Given the description of an element on the screen output the (x, y) to click on. 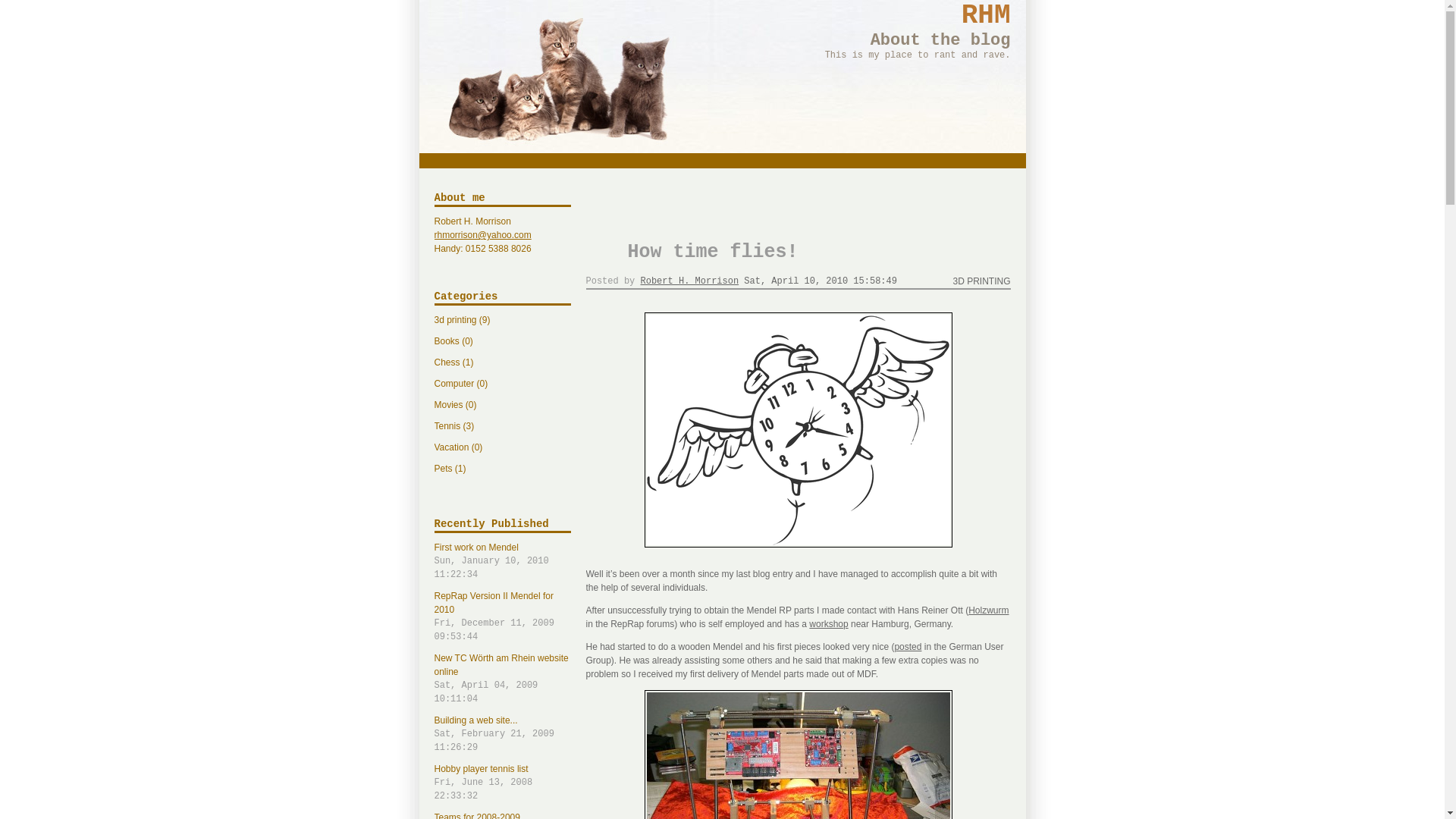
Holzwurm (501, 734)
workshop (988, 610)
RHM (501, 815)
Robert H. Morrison (828, 624)
Sat, April 10, 2010 15:58:49 (985, 15)
3D PRINTING (689, 281)
3d printing (501, 783)
posted (820, 281)
How time flies! (981, 281)
